Given the description of an element on the screen output the (x, y) to click on. 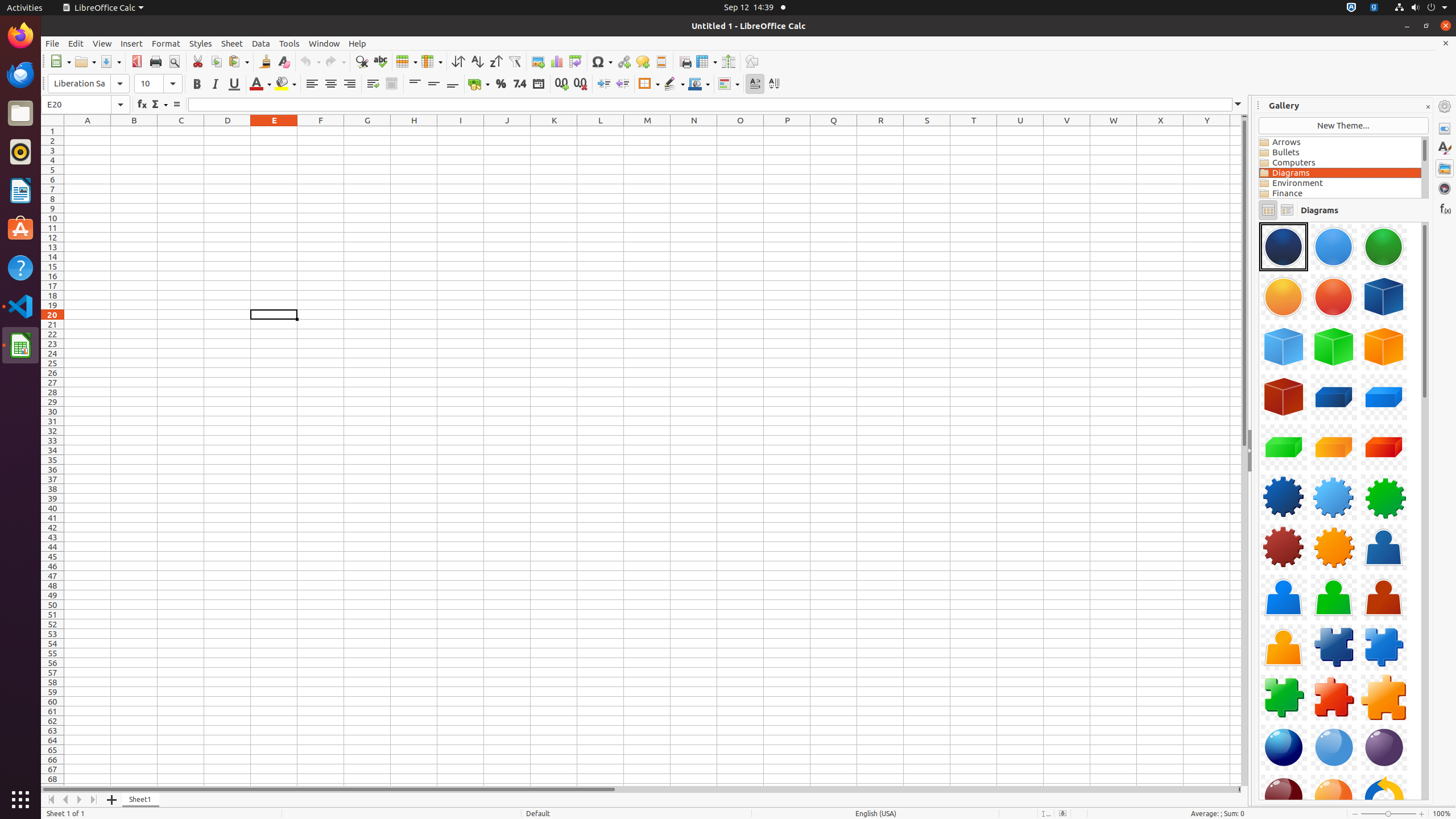
Close Sidebar Deck Element type: push-button (1427, 106)
Increase Element type: push-button (603, 83)
Number Element type: push-button (519, 83)
Component-Circle01-Transparent-DarkBlue Element type: list-item (1283, 246)
Draw Functions Element type: toggle-button (751, 61)
